Given the description of an element on the screen output the (x, y) to click on. 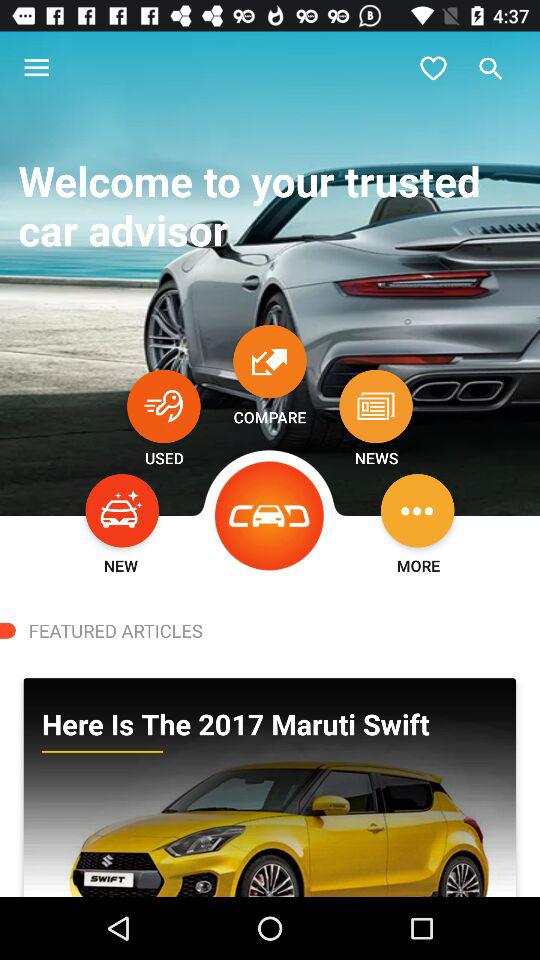
compare car selections (269, 361)
